Given the description of an element on the screen output the (x, y) to click on. 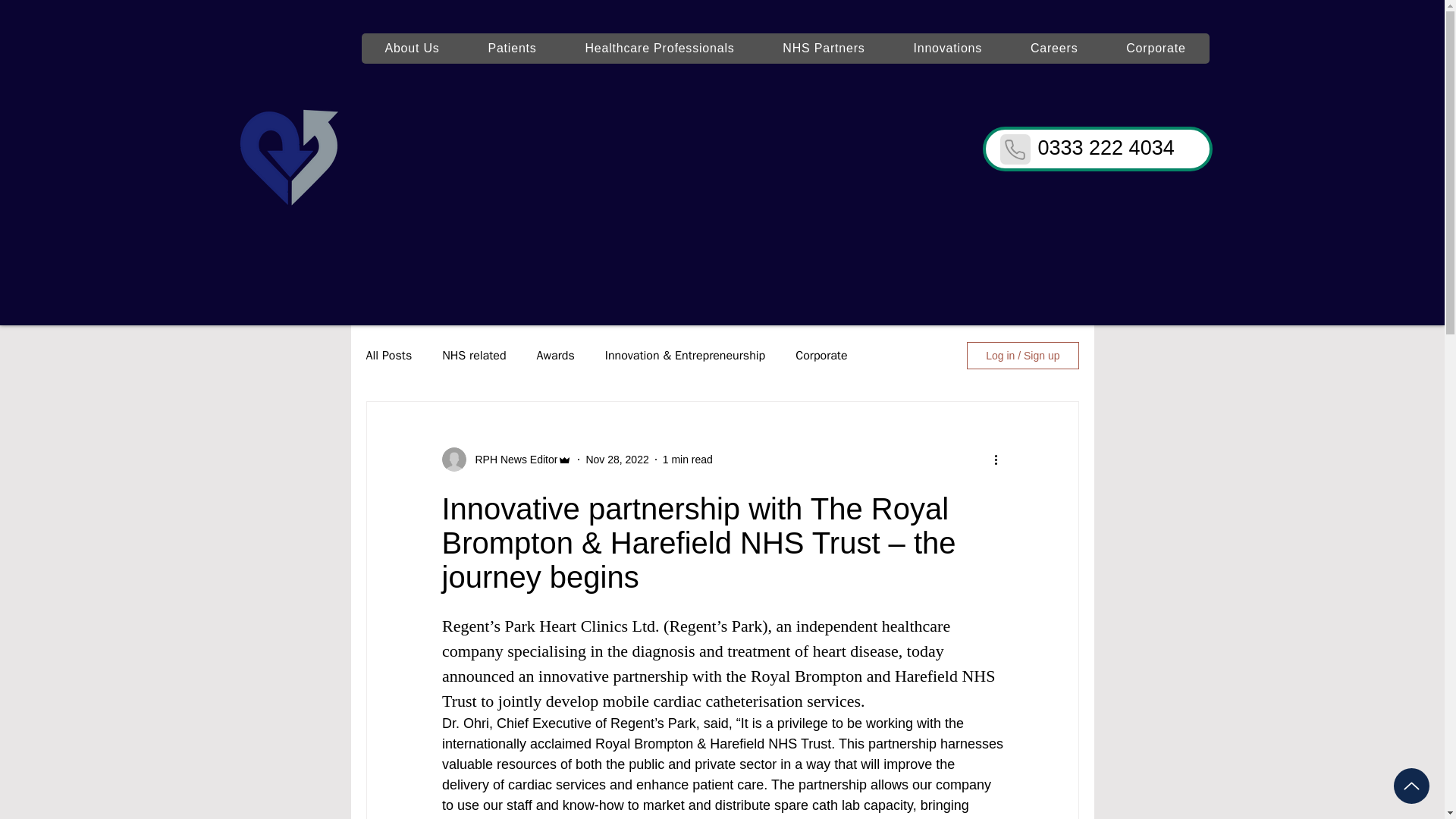
Healthcare Professionals (660, 48)
Nov 28, 2022 (616, 459)
RPH News Editor (511, 459)
Innovations (947, 48)
Careers (1053, 48)
1 min read (687, 459)
Patients (512, 48)
Corporate (1155, 48)
About Us (412, 48)
NHS Partners (823, 48)
